Given the description of an element on the screen output the (x, y) to click on. 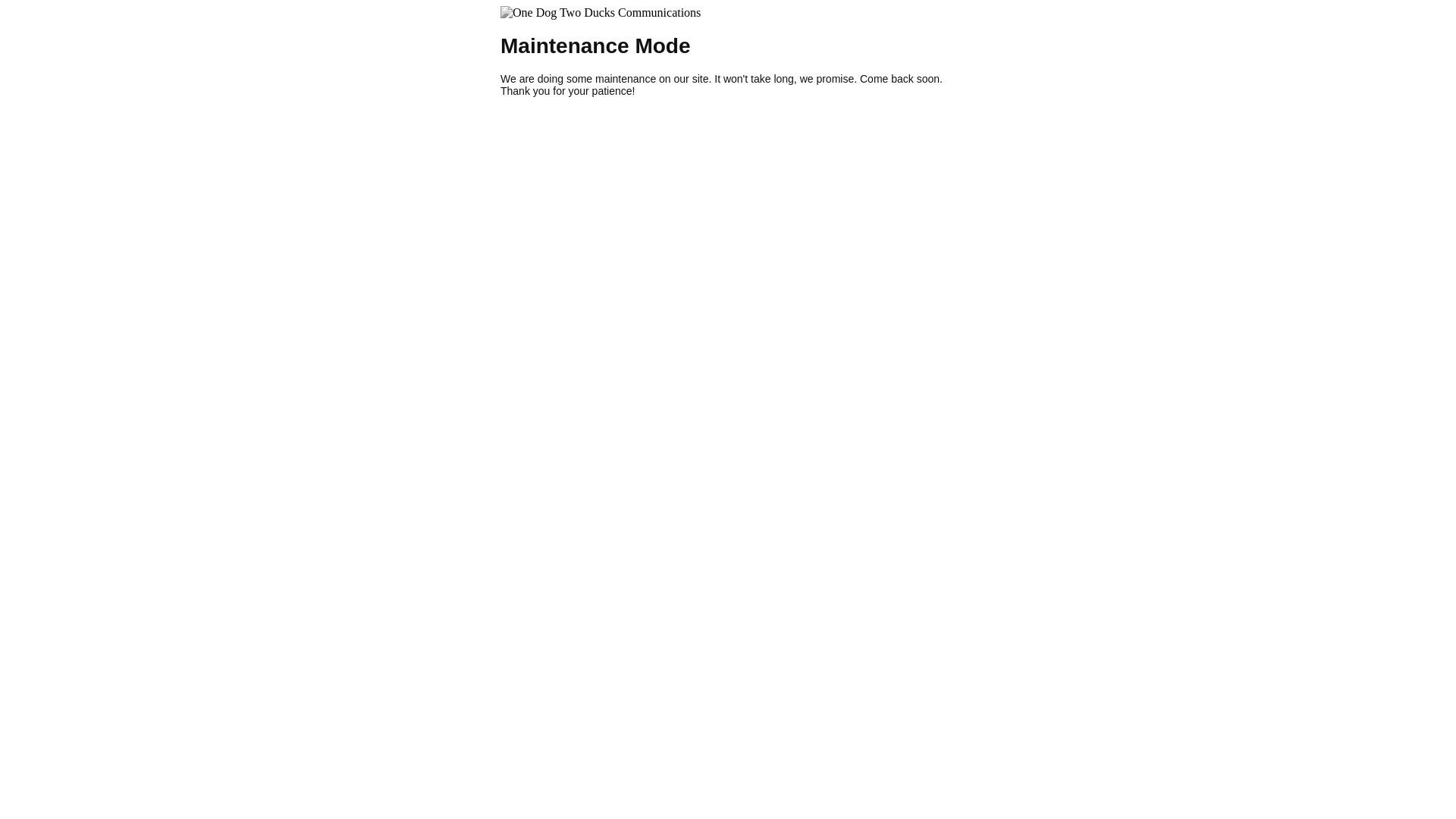
One Dog Two Ducks Communications Element type: hover (600, 12)
